Given the description of an element on the screen output the (x, y) to click on. 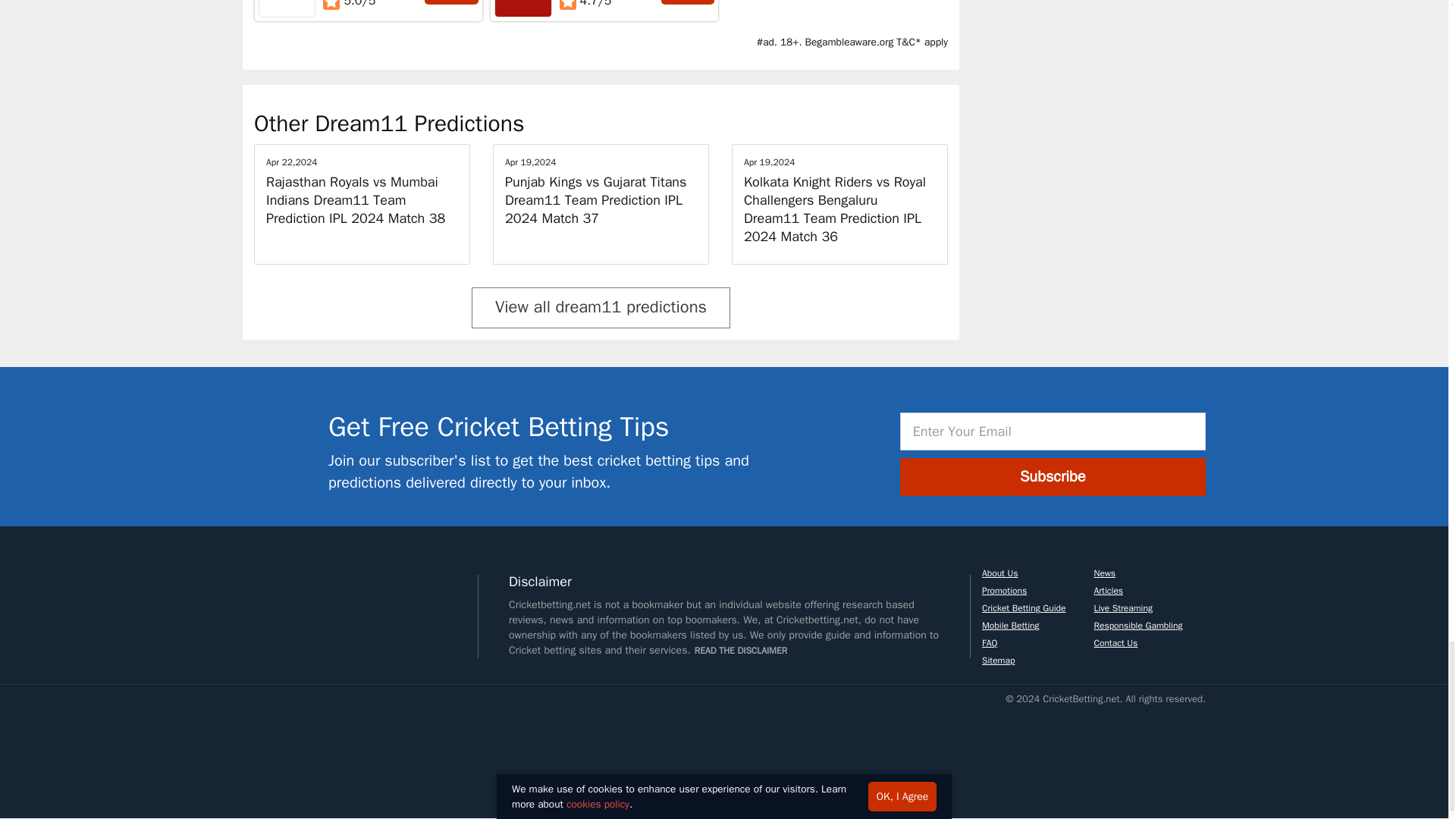
View all dream11 predictions (600, 307)
1xbet (287, 2)
Visit Site (687, 2)
subscribe-newsletter (280, 449)
Cricket Betting (281, 601)
Dafabet (523, 2)
Visit Site (452, 2)
Cricket Betting (468, 751)
Cricket Betting (281, 750)
Cricket Betting (364, 751)
